Given the description of an element on the screen output the (x, y) to click on. 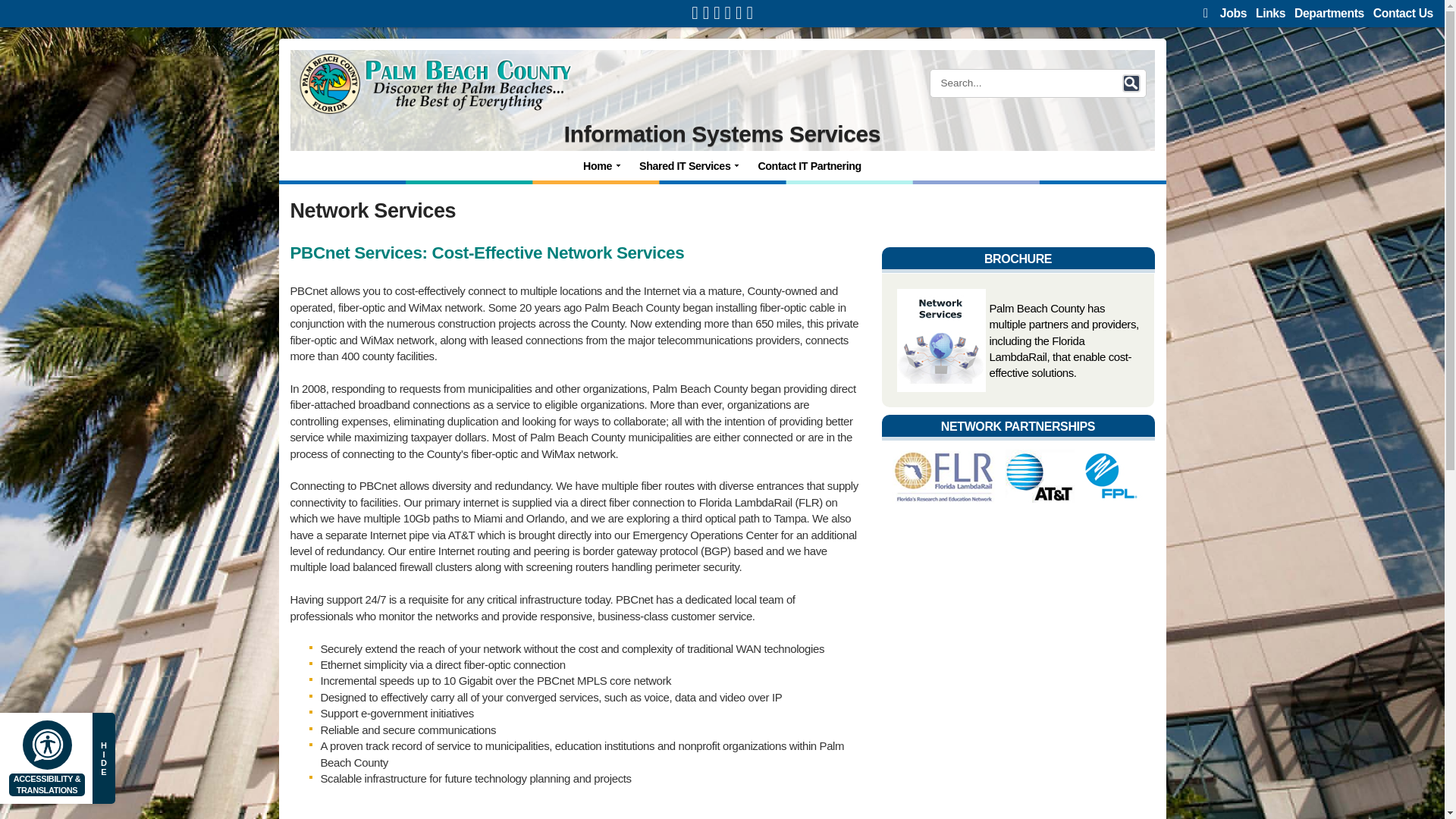
Launch Recite Me (47, 745)
FLR (944, 475)
Search... (1031, 83)
Links (1270, 12)
Contact Us (1402, 12)
Departments (1329, 12)
Brochure - Allows authors to enter rich text content. (1017, 256)
ATT (1039, 475)
Jobs (1233, 12)
